Given the description of an element on the screen output the (x, y) to click on. 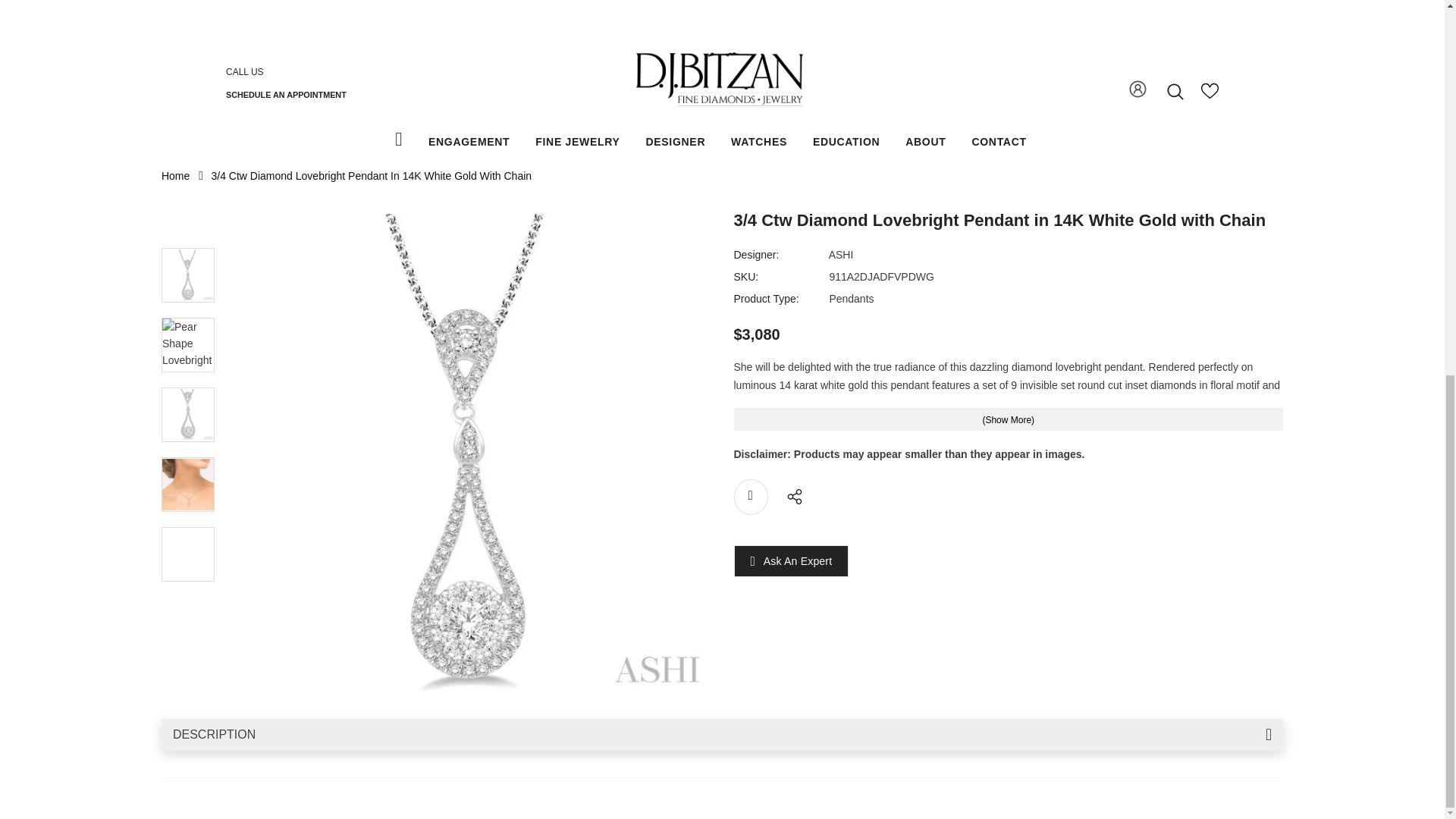
CONTACT (998, 141)
WATCHES (758, 141)
DESIGNER (674, 141)
Wish List (1209, 96)
ENGAGEMENT (468, 141)
Search (1174, 90)
Home (175, 175)
Share (790, 494)
Ask An Expert (797, 561)
EDUCATION (845, 141)
